Given the description of an element on the screen output the (x, y) to click on. 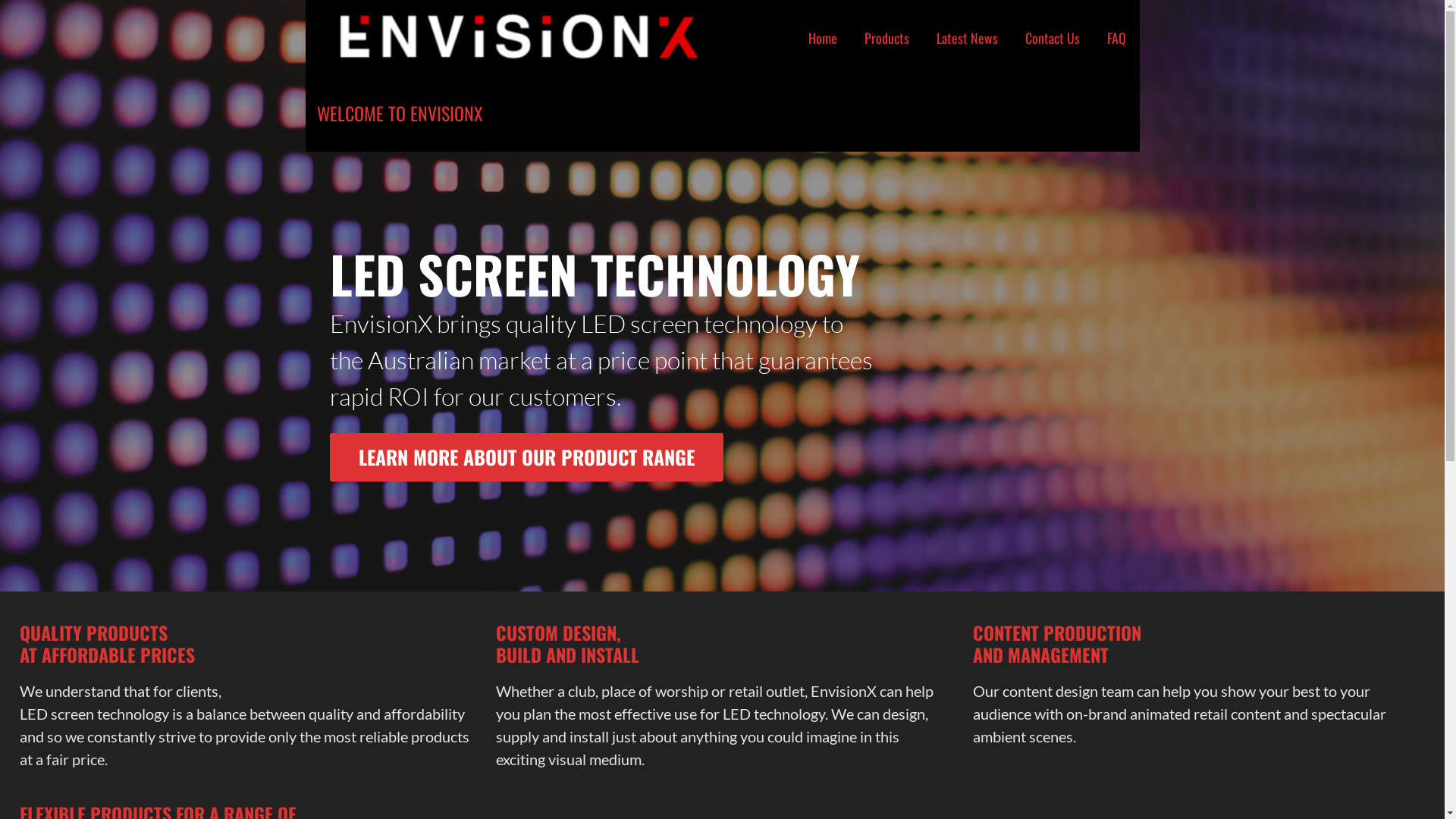
CONTENT PRODUCTION Element type: text (1056, 632)
LEARN MORE ABOUT OUR PRODUCT RANGE Element type: text (526, 457)
Home Element type: text (822, 37)
CUSTOM DESIGN, Element type: text (558, 632)
FAQ Element type: text (1116, 37)
Skip to content Element type: text (0, 0)
BUILD AND INSTALL Element type: text (567, 654)
Contact Us Element type: text (1052, 37)
AND MANAGEMENT Element type: text (1040, 654)
Latest News Element type: text (966, 37)
QUALITY PRODUCTS Element type: text (93, 632)
AT AFFORDABLE PRICES Element type: text (106, 654)
Products Element type: text (886, 37)
WELCOME TO ENVISIONX Element type: text (399, 112)
